Given the description of an element on the screen output the (x, y) to click on. 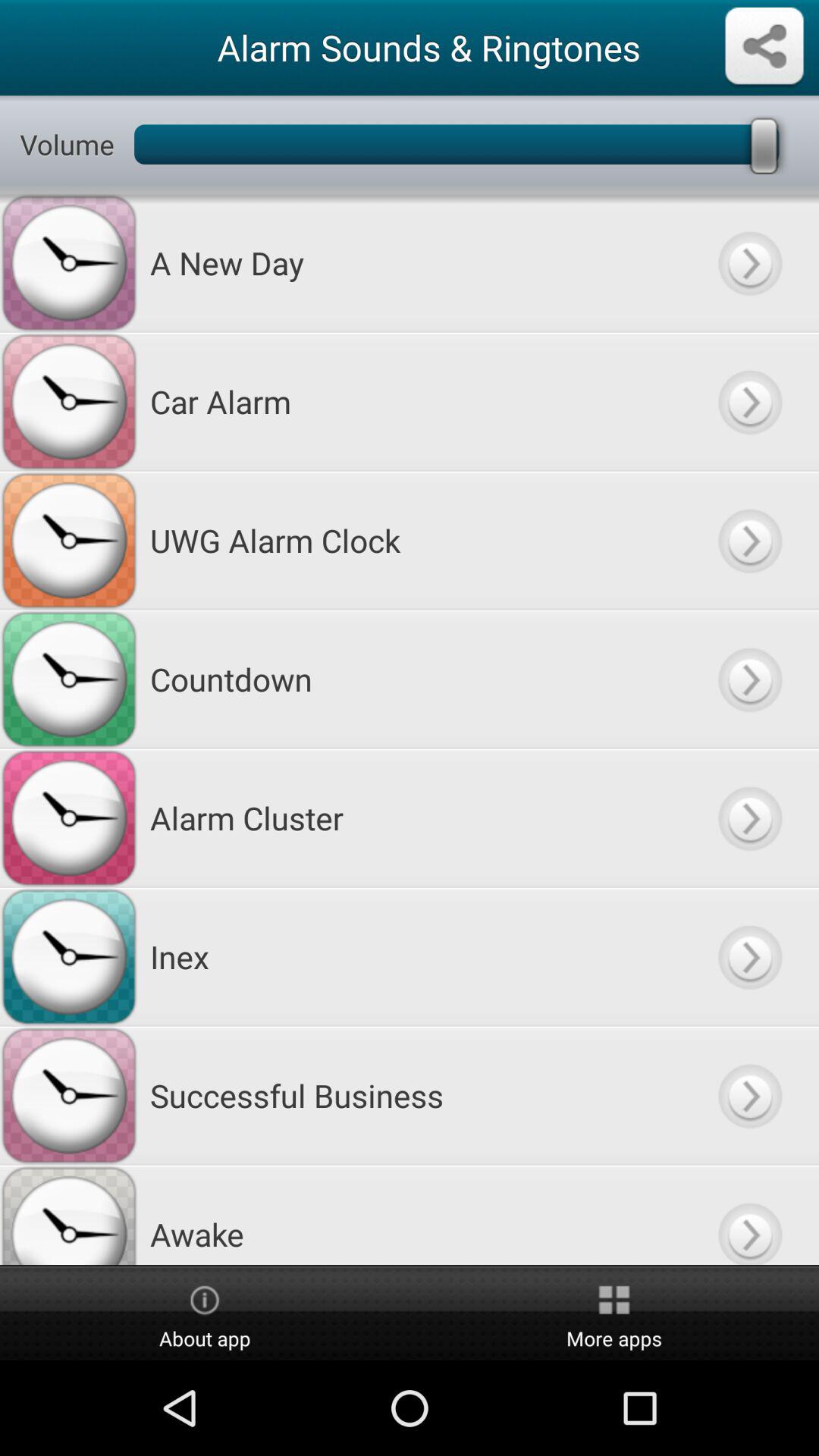
share the sound (764, 47)
